Given the description of an element on the screen output the (x, y) to click on. 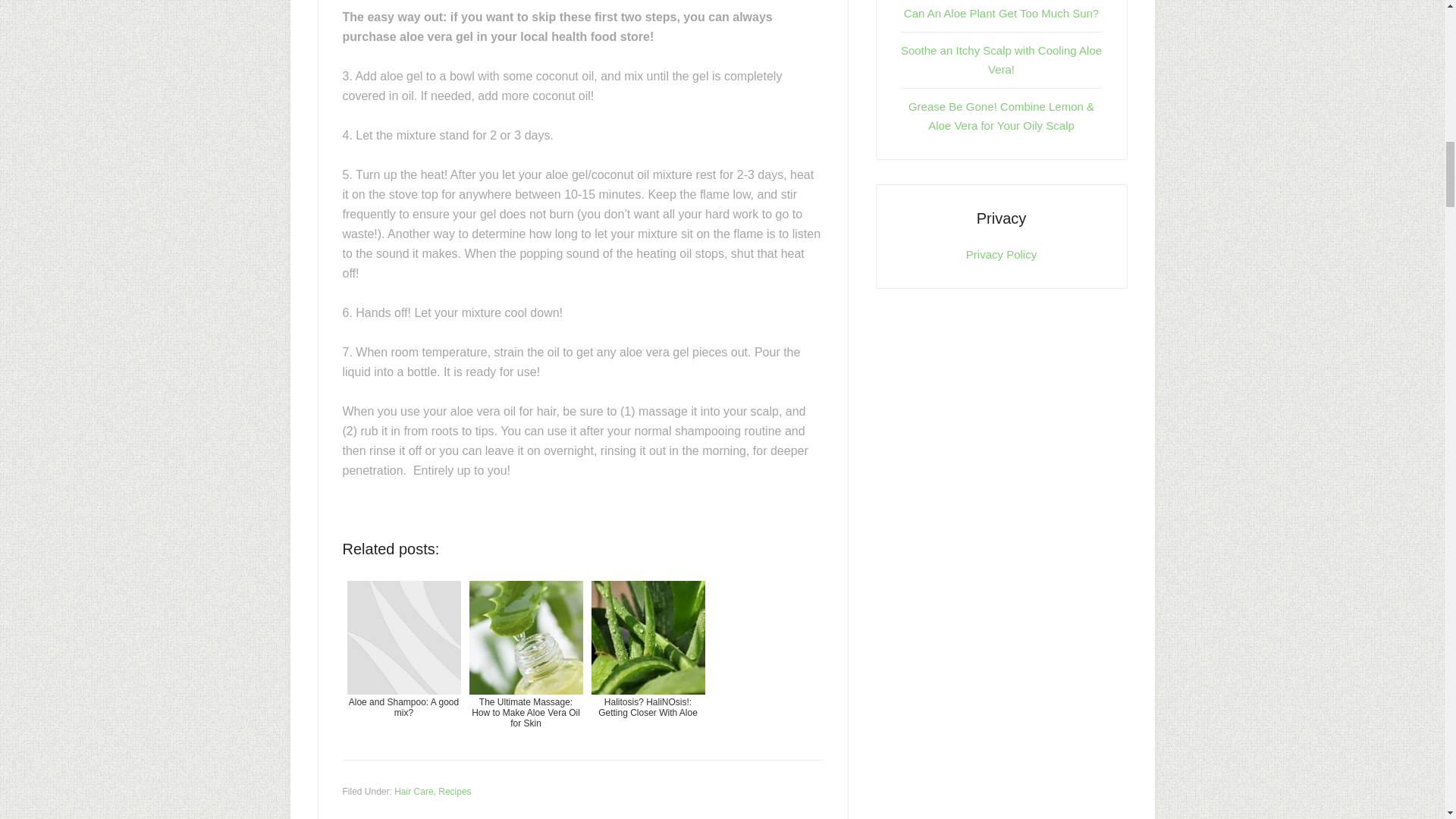
Recipes (454, 791)
Hair Care (413, 791)
